Given the description of an element on the screen output the (x, y) to click on. 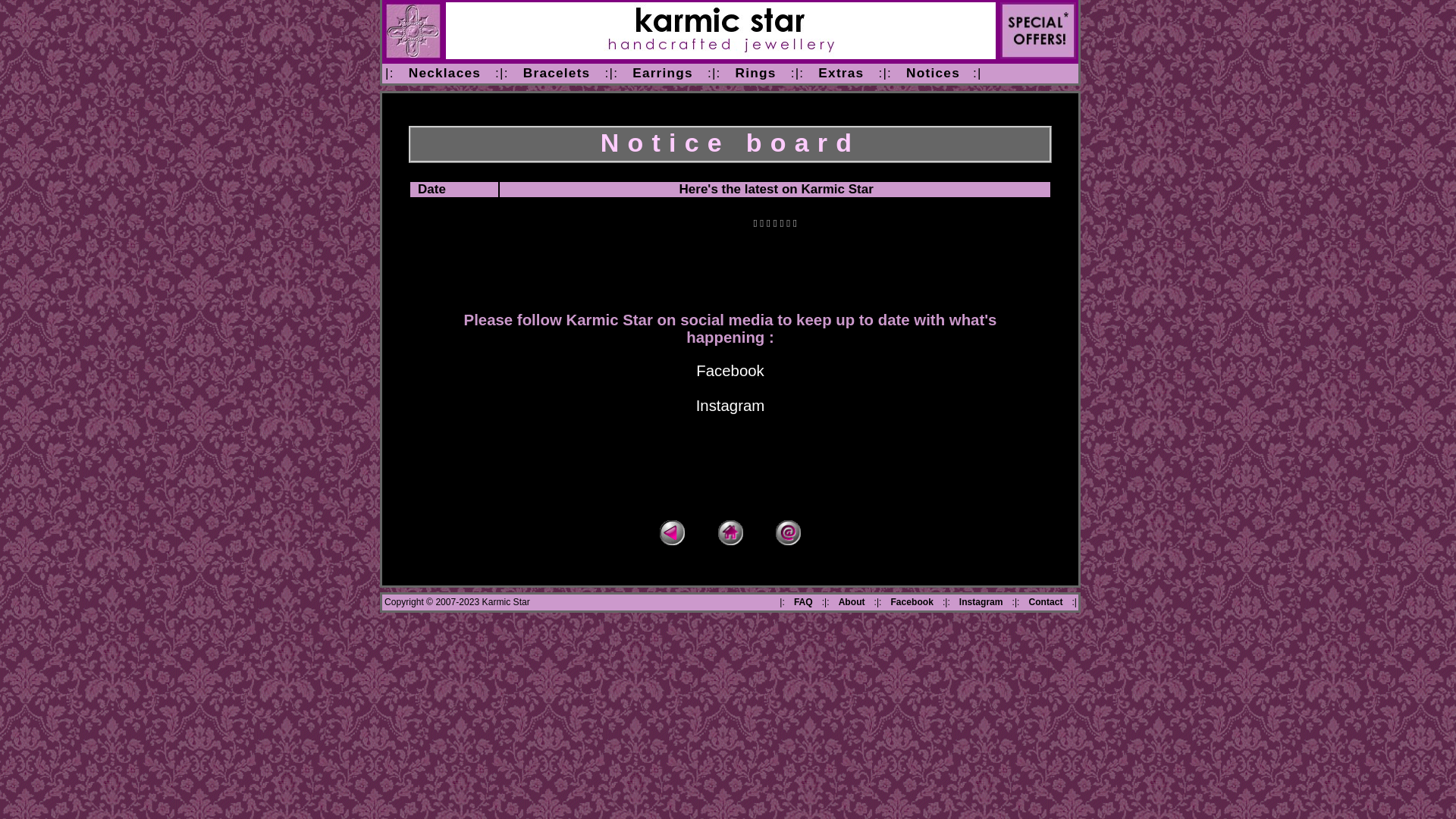
Back Element type: hover (671, 532)
Notices Element type: text (933, 72)
Bracelets Element type: text (556, 72)
Necklaces Element type: text (444, 72)
Rings Element type: text (755, 72)
FAQ Element type: text (802, 601)
Contact Element type: text (1045, 601)
Email enquiry Element type: hover (787, 532)
Facebook Element type: text (911, 601)
Earrings Element type: text (662, 72)
Instagram Element type: text (730, 405)
About Element type: text (851, 601)
Extras Element type: text (840, 72)
Facebook Element type: text (730, 370)
Instagram Element type: text (981, 601)
homepage Element type: hover (412, 30)
Home Element type: hover (729, 532)
